Given the description of an element on the screen output the (x, y) to click on. 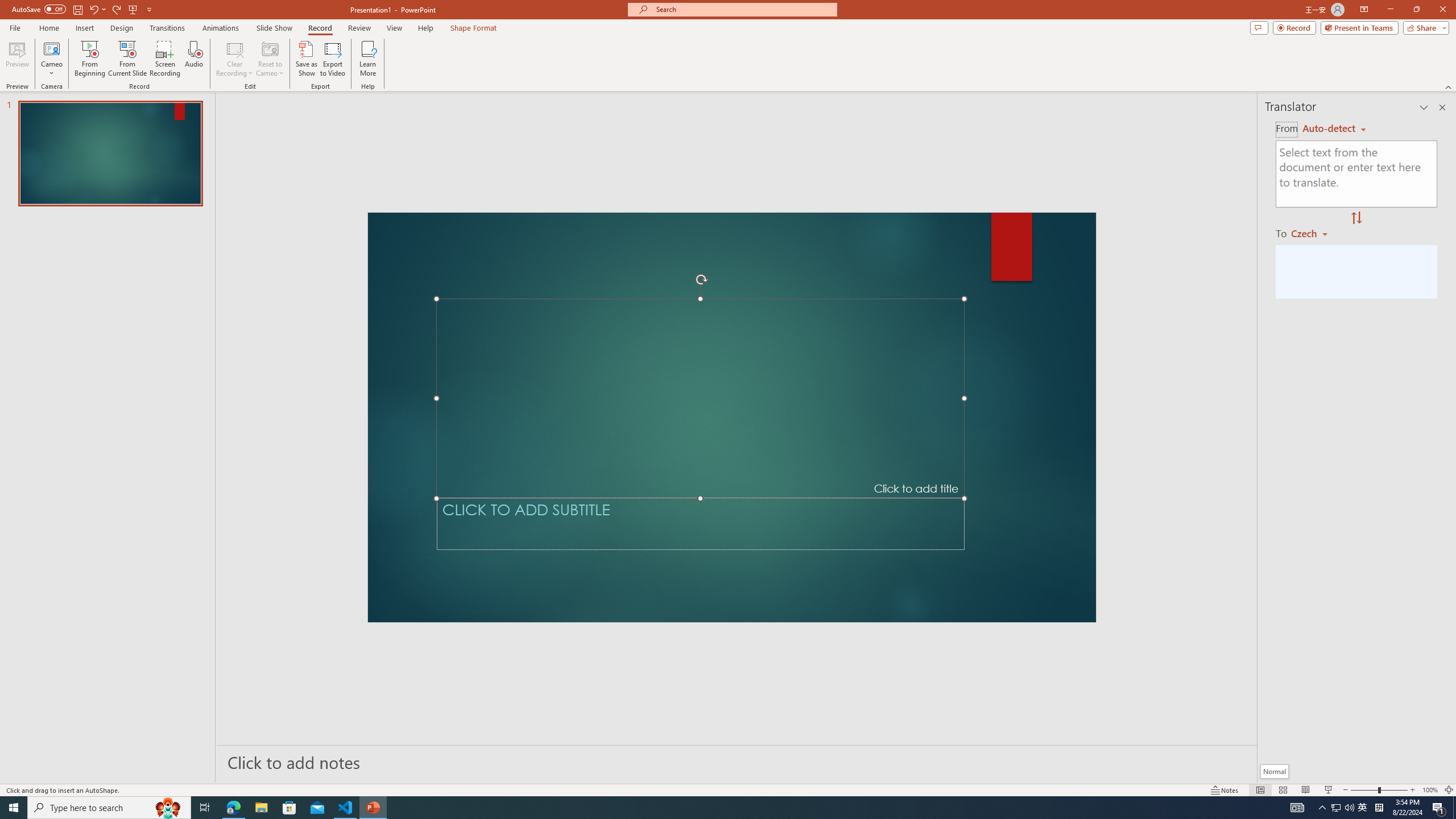
Reset to Cameo (269, 58)
Czech (1313, 232)
